Given the description of an element on the screen output the (x, y) to click on. 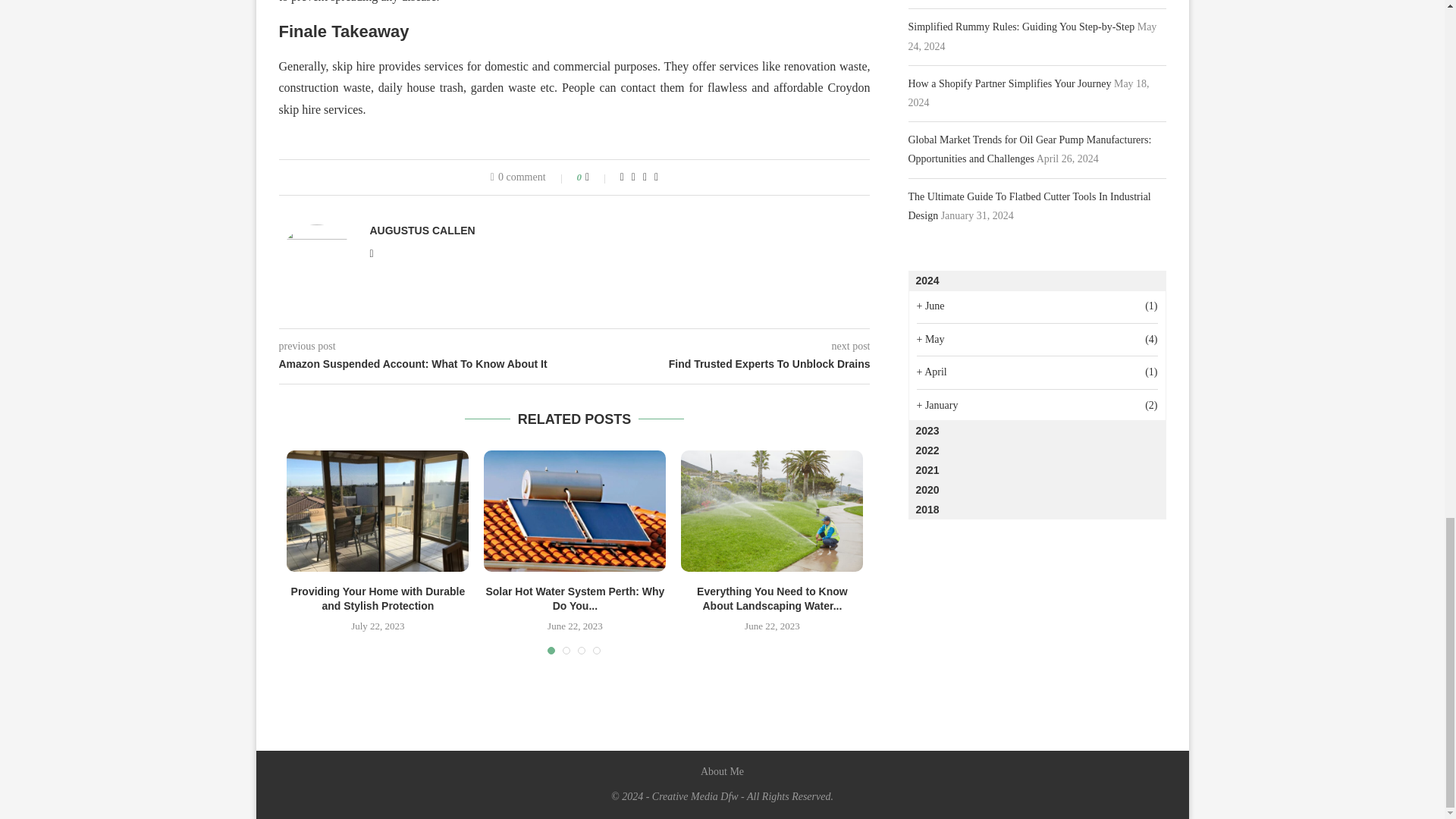
Like (597, 177)
Everything You Need to Know About Landscaping Water Features (772, 510)
Providing Your Home with Durable and Stylish Protection (377, 510)
Solar Hot Water System Perth: Why Do You Need One? (574, 510)
Author Augustus Callen (422, 230)
